Given the description of an element on the screen output the (x, y) to click on. 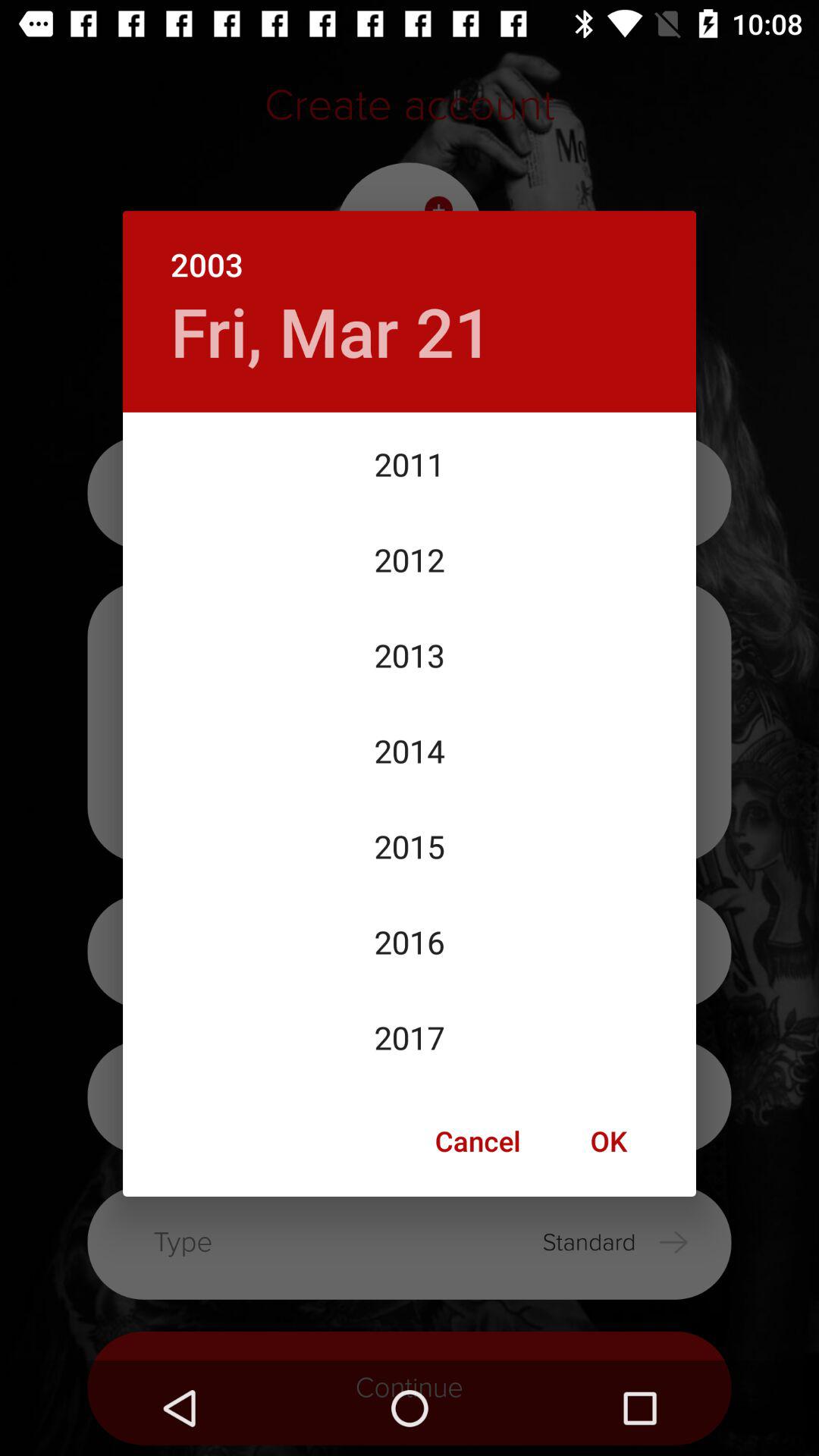
open fri, mar 21 (331, 331)
